Given the description of an element on the screen output the (x, y) to click on. 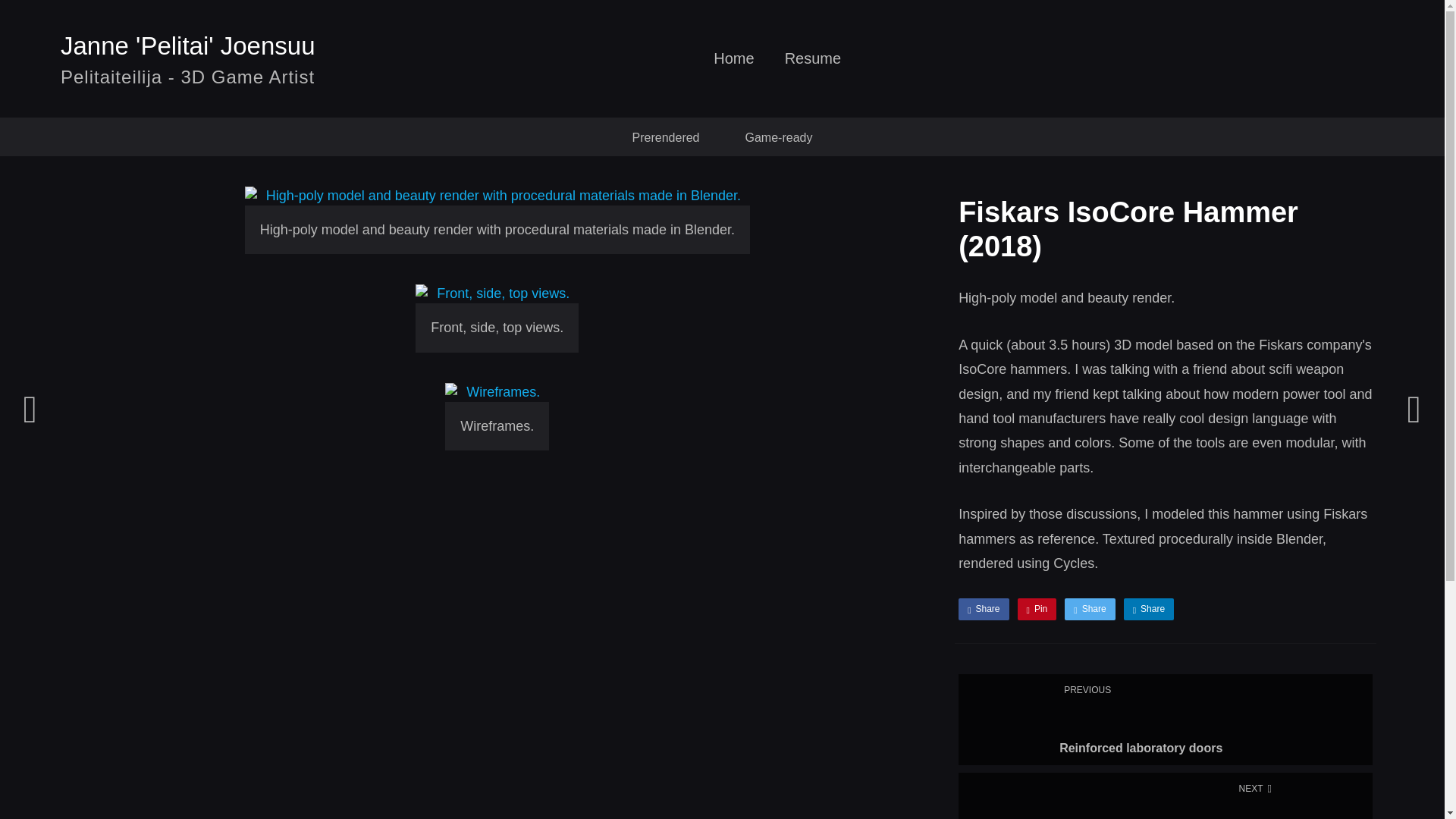
Share (983, 608)
Janne 'Pelitai' Joensuu (188, 45)
Resume (1165, 719)
Prerendered (812, 63)
Share (665, 136)
Home (1148, 608)
Pin (733, 63)
Share (1037, 608)
Game-ready (1089, 608)
